Given the description of an element on the screen output the (x, y) to click on. 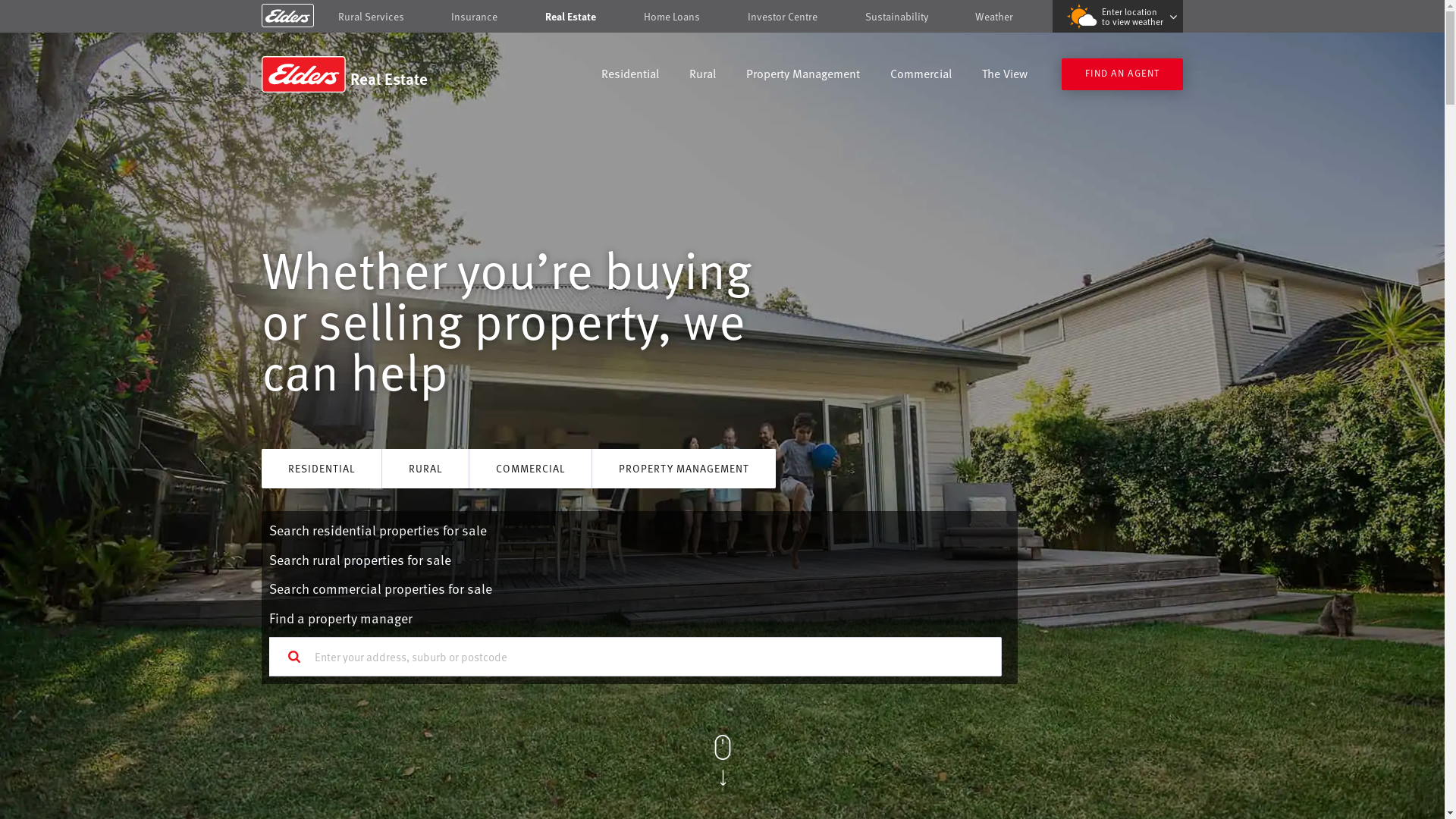
Insurance Element type: text (474, 16)
Real Estate Element type: text (369, 74)
Investor Centre Element type: text (782, 16)
Rural Services Element type: text (371, 16)
RESIDENTIAL Element type: text (321, 468)
RURAL Element type: text (425, 468)
Residential Element type: text (629, 75)
The View Element type: text (1004, 75)
PROPERTY MANAGEMENT Element type: text (683, 468)
Weather Element type: text (994, 16)
Home Loans Element type: text (671, 16)
Sustainability Element type: text (896, 16)
COMMERCIAL Element type: text (530, 468)
Enter location to view weather Element type: text (1117, 16)
Property Management Element type: text (802, 75)
Commercial Element type: text (920, 75)
Rural Element type: text (702, 75)
Skip to content Element type: text (722, 17)
FIND AN AGENT Element type: text (1122, 74)
Real Estate Element type: text (570, 16)
